Given the description of an element on the screen output the (x, y) to click on. 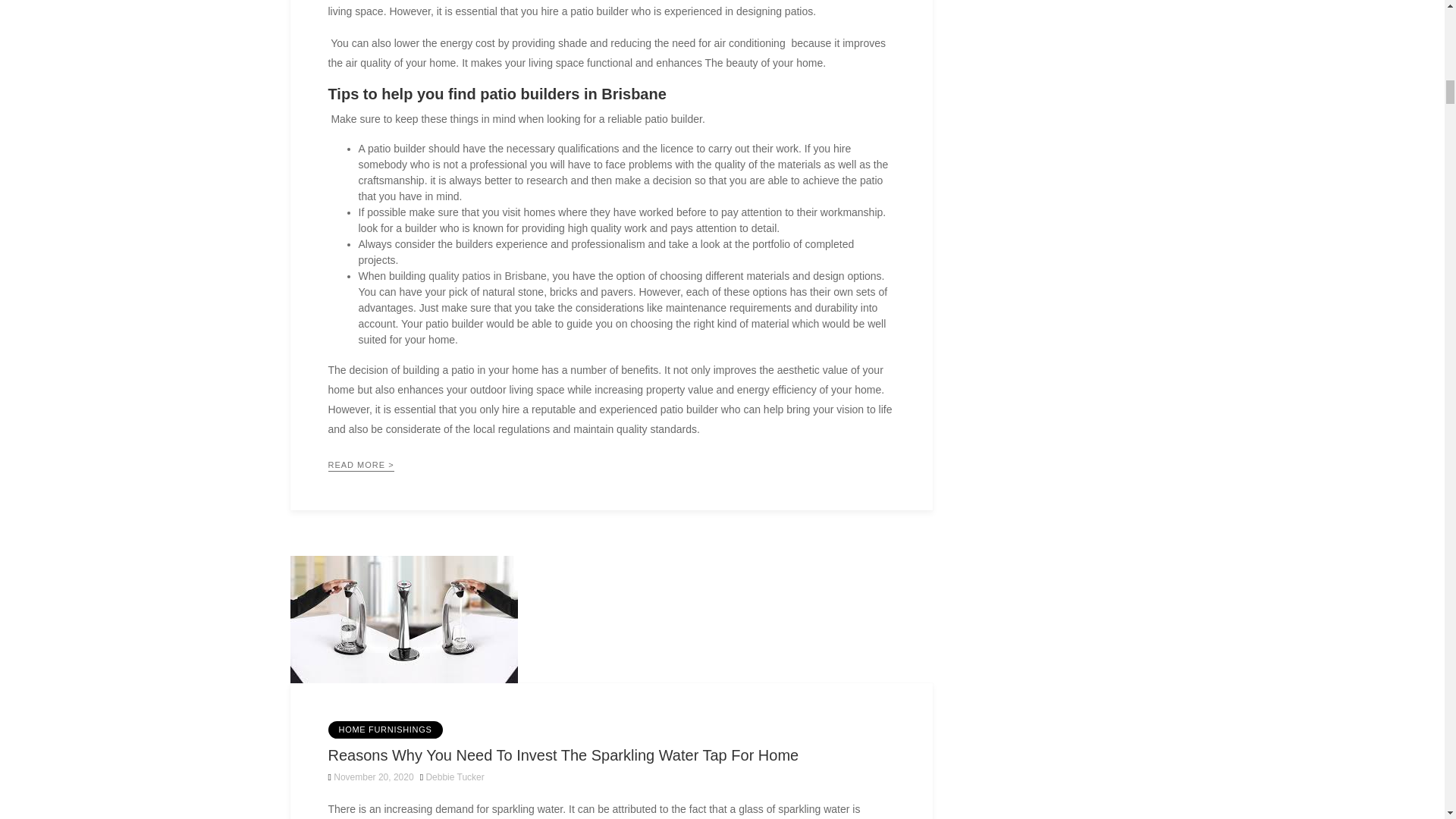
quality patios in Brisbane (487, 275)
Debbie Tucker (454, 777)
HOME FURNISHINGS (384, 729)
November 20, 2020 (370, 777)
